Given the description of an element on the screen output the (x, y) to click on. 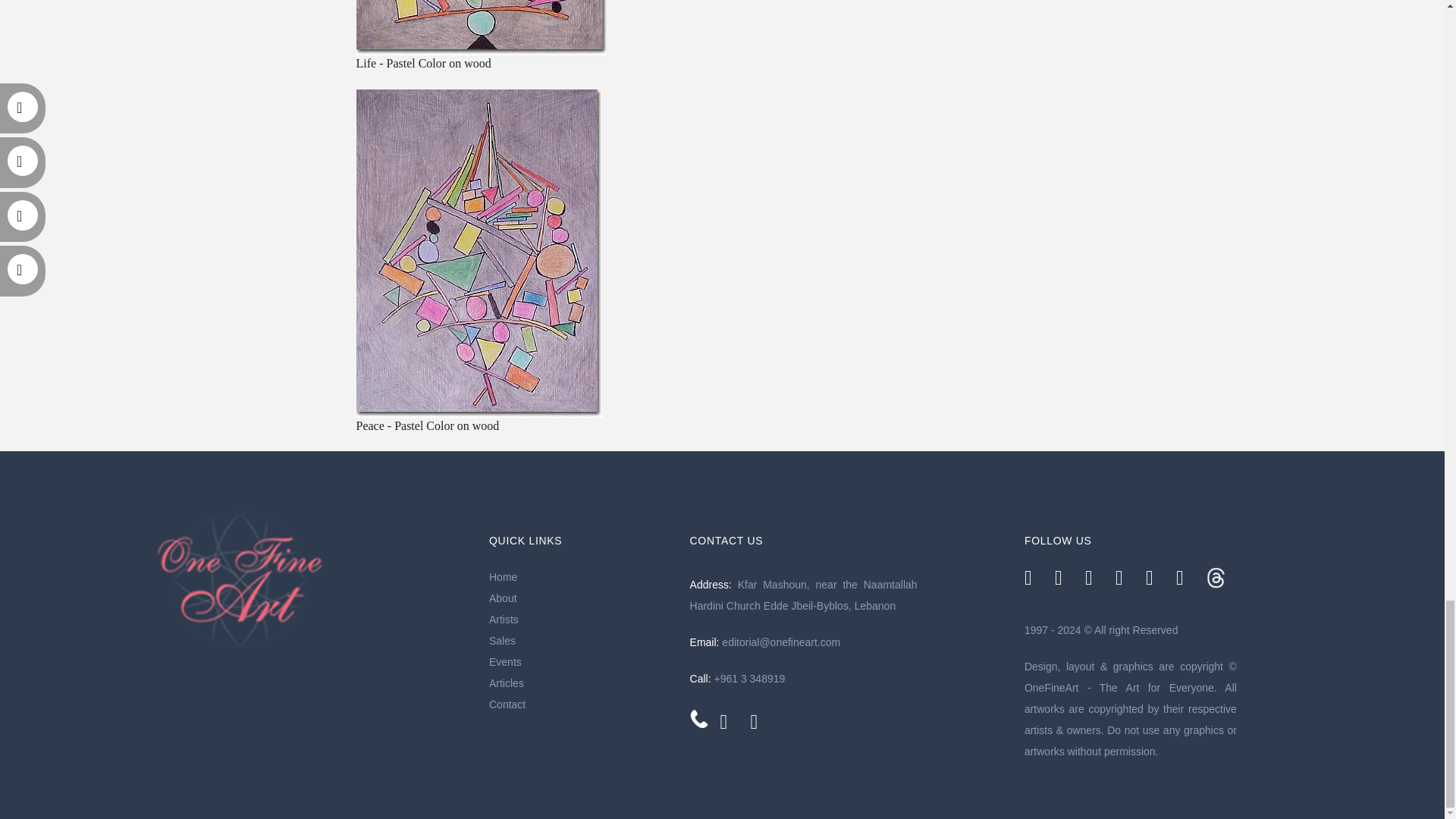
Events (582, 661)
About (582, 598)
Articles (582, 682)
Sales (582, 640)
Home (582, 577)
Contact (582, 703)
Artists (582, 619)
